Given the description of an element on the screen output the (x, y) to click on. 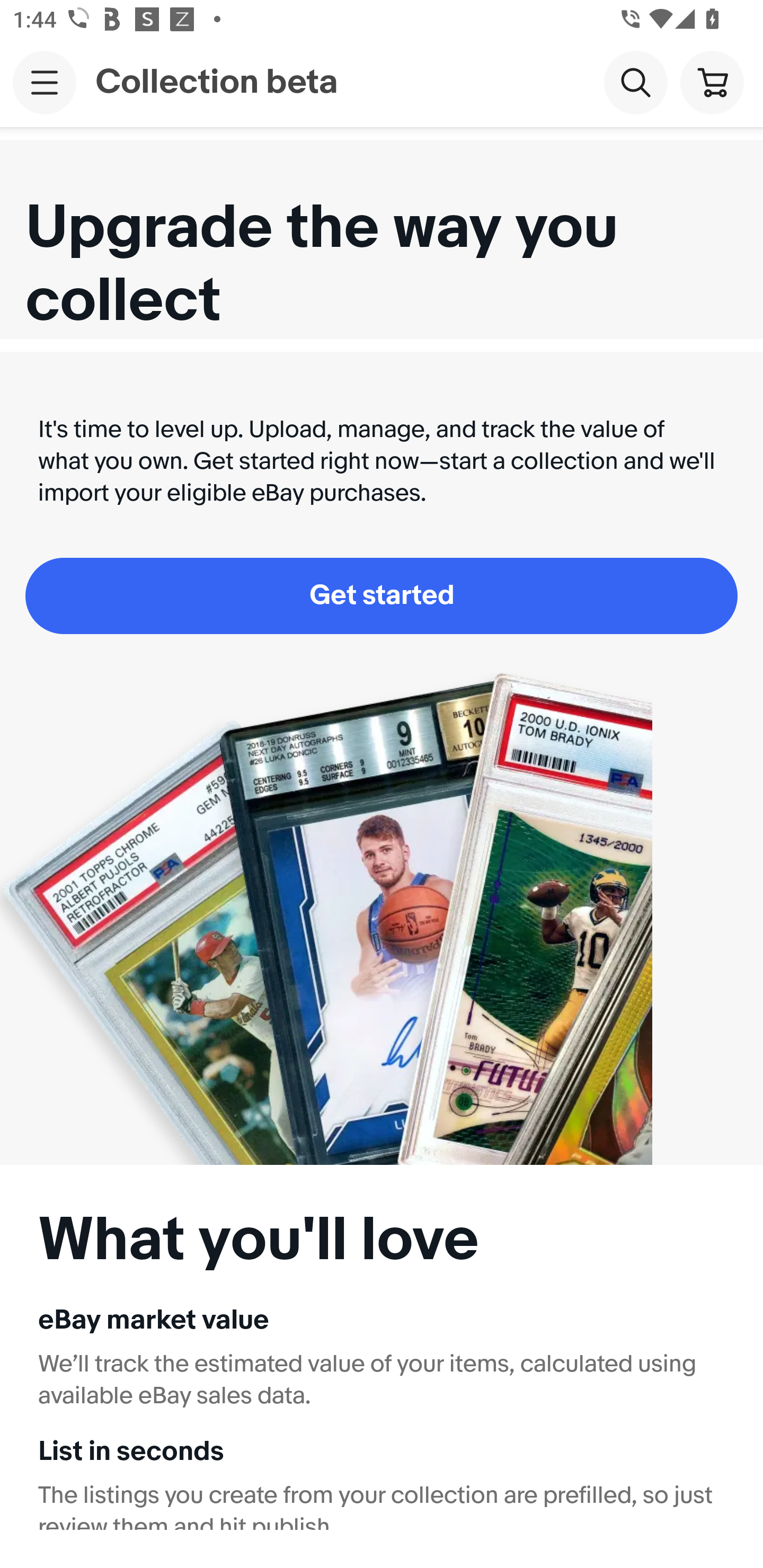
Main navigation, open (44, 82)
Search (635, 81)
Cart button shopping cart (711, 81)
Get started (381, 595)
